Given the description of an element on the screen output the (x, y) to click on. 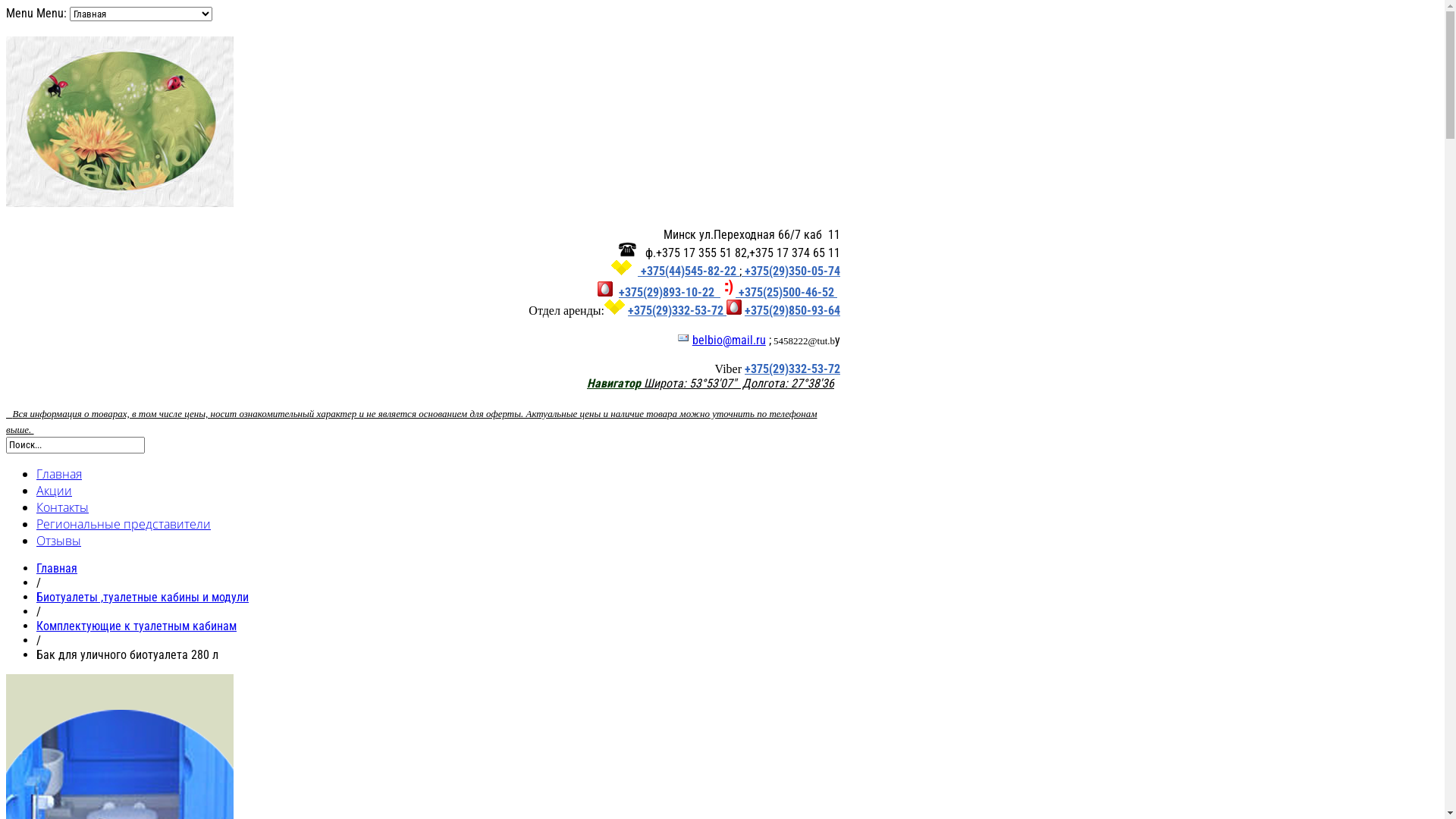
+375(29)893-10-22   Element type: text (676, 292)
+375(29)332-53-72 Element type: text (792, 368)
+375(29)350-05-74 Element type: text (790, 270)
belbio@mail.ru Element type: text (728, 339)
+375(44)545-82-22 Element type: text (688, 270)
+375(29)850-93-64 Element type: text (792, 310)
+375(25)500-46-52 Element type: text (786, 292)
+375(29)332-53-72 Element type: text (676, 310)
